Given the description of an element on the screen output the (x, y) to click on. 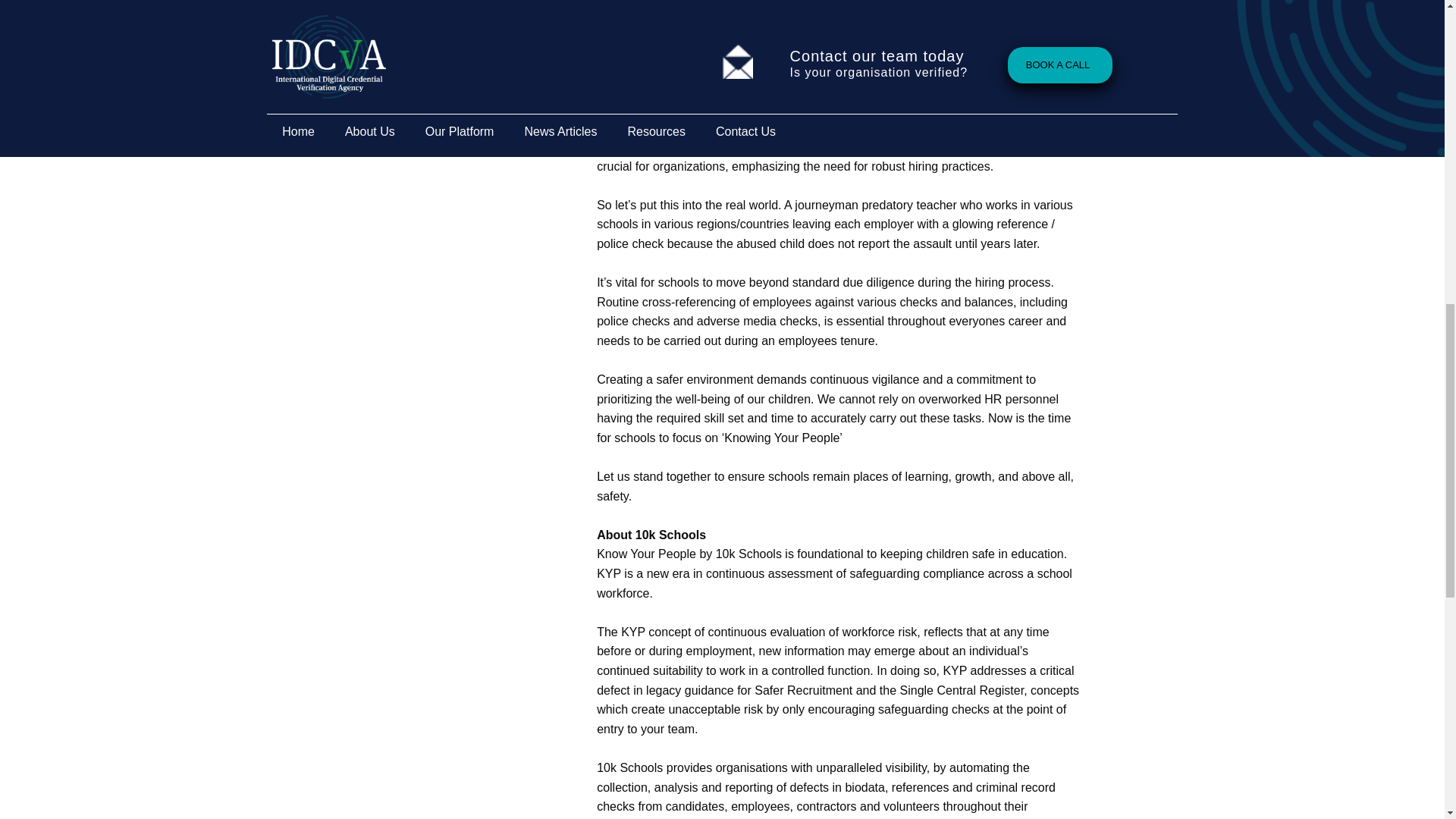
CONTACT US (432, 81)
